Given the description of an element on the screen output the (x, y) to click on. 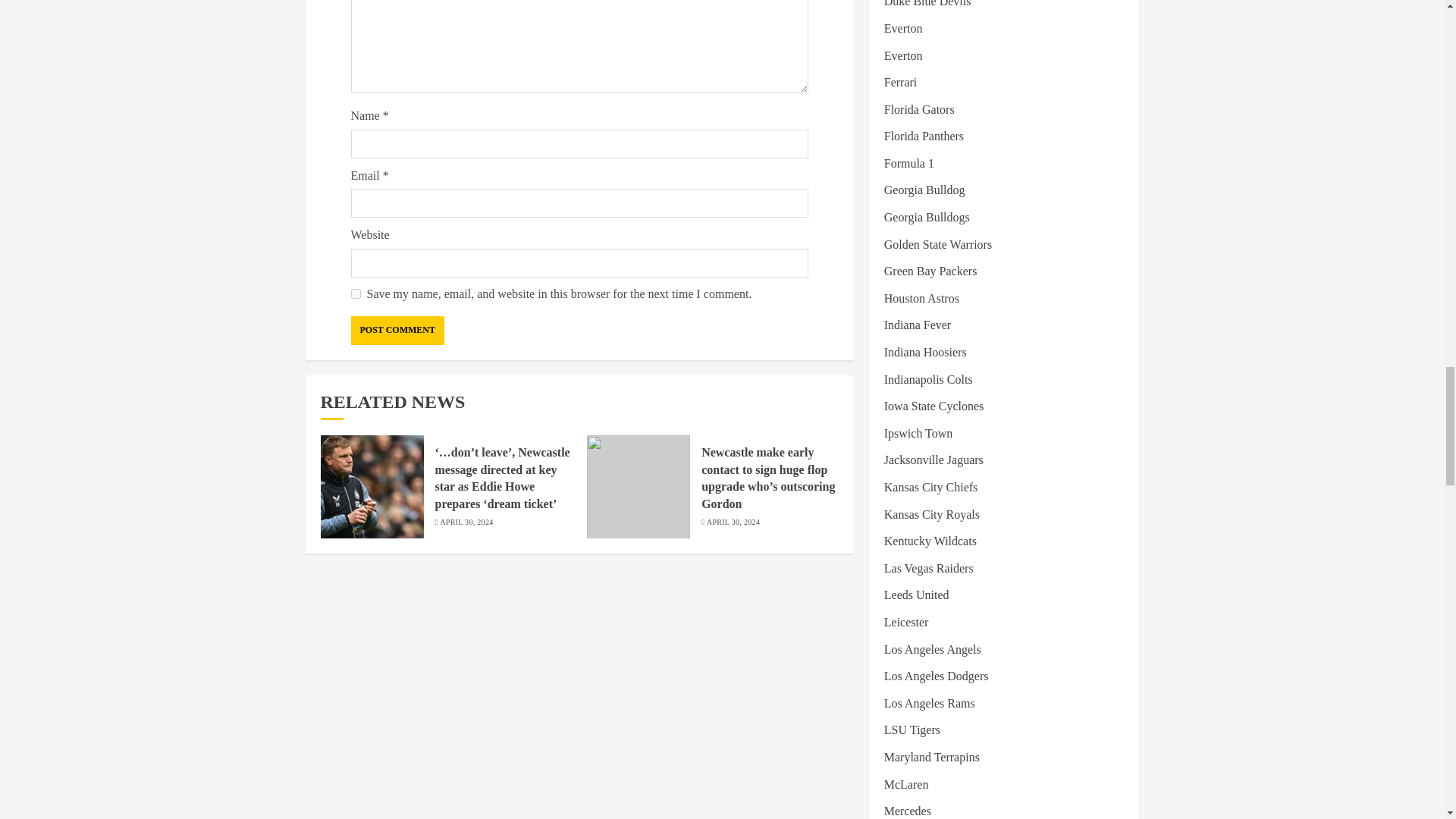
APRIL 30, 2024 (466, 521)
Post Comment (397, 330)
Post Comment (397, 330)
yes (354, 293)
APRIL 30, 2024 (733, 521)
